Given the description of an element on the screen output the (x, y) to click on. 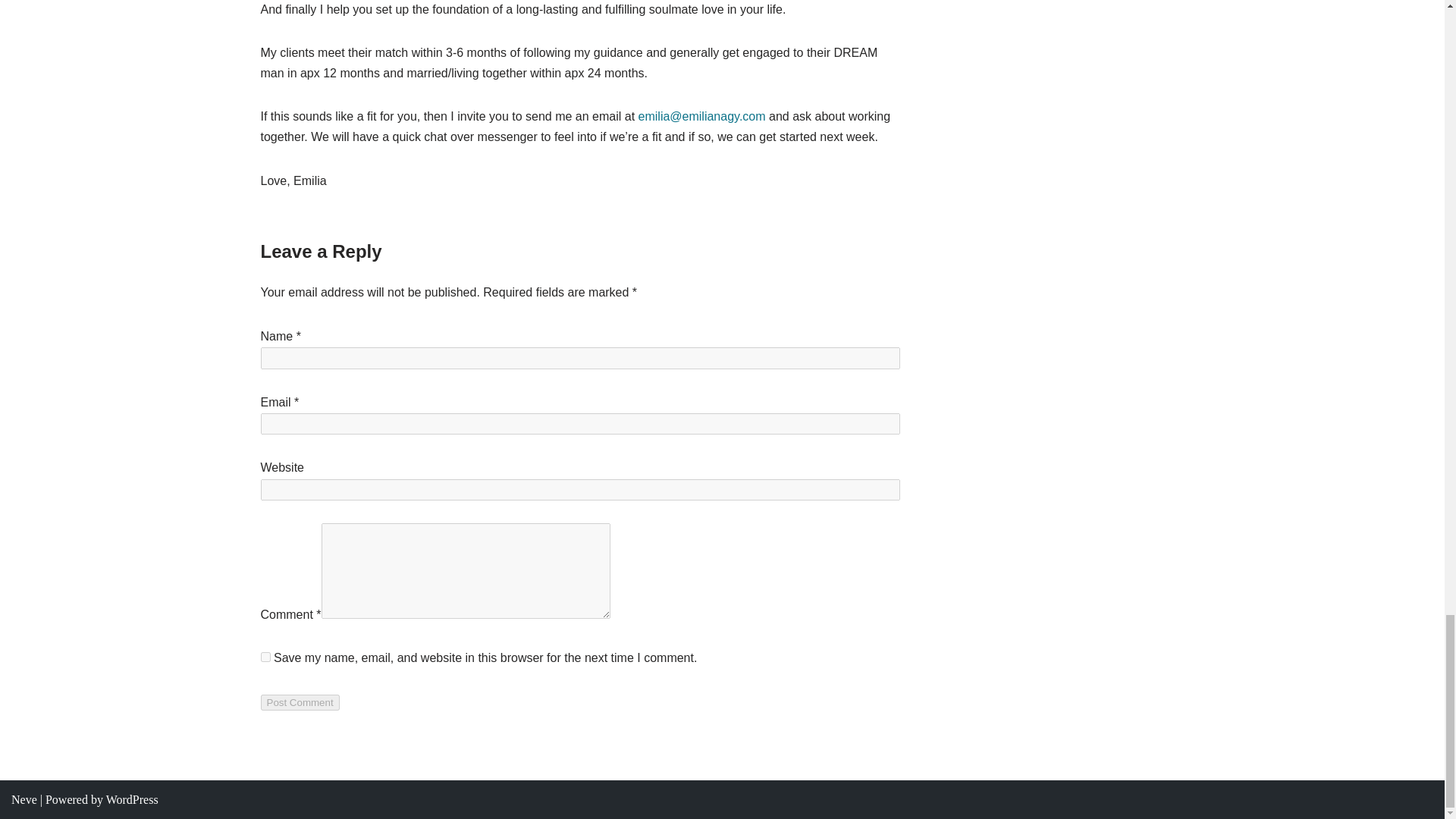
Post Comment (299, 702)
Post Comment (299, 702)
yes (265, 656)
